Given the description of an element on the screen output the (x, y) to click on. 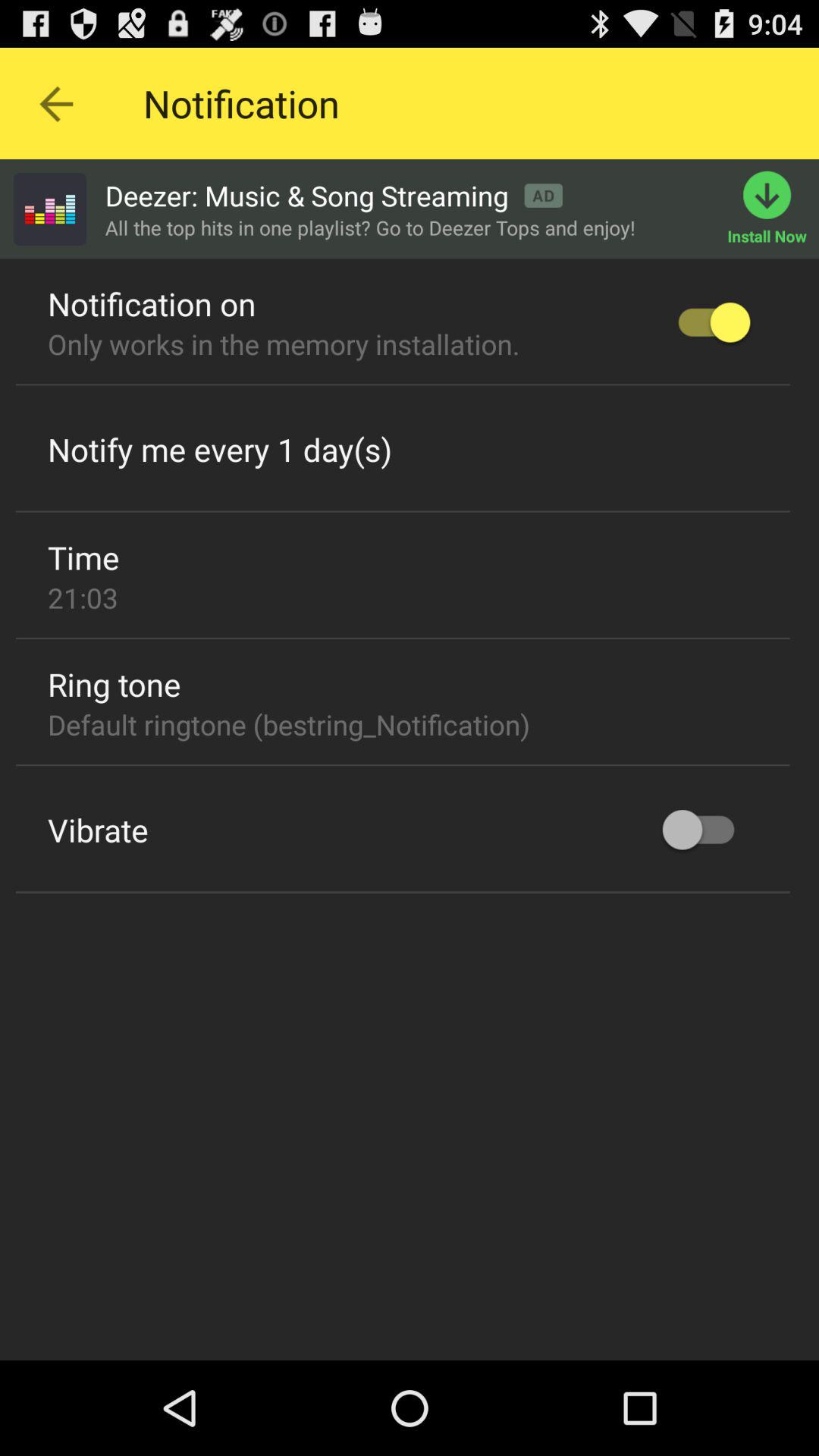
flip until notify me every (219, 448)
